Given the description of an element on the screen output the (x, y) to click on. 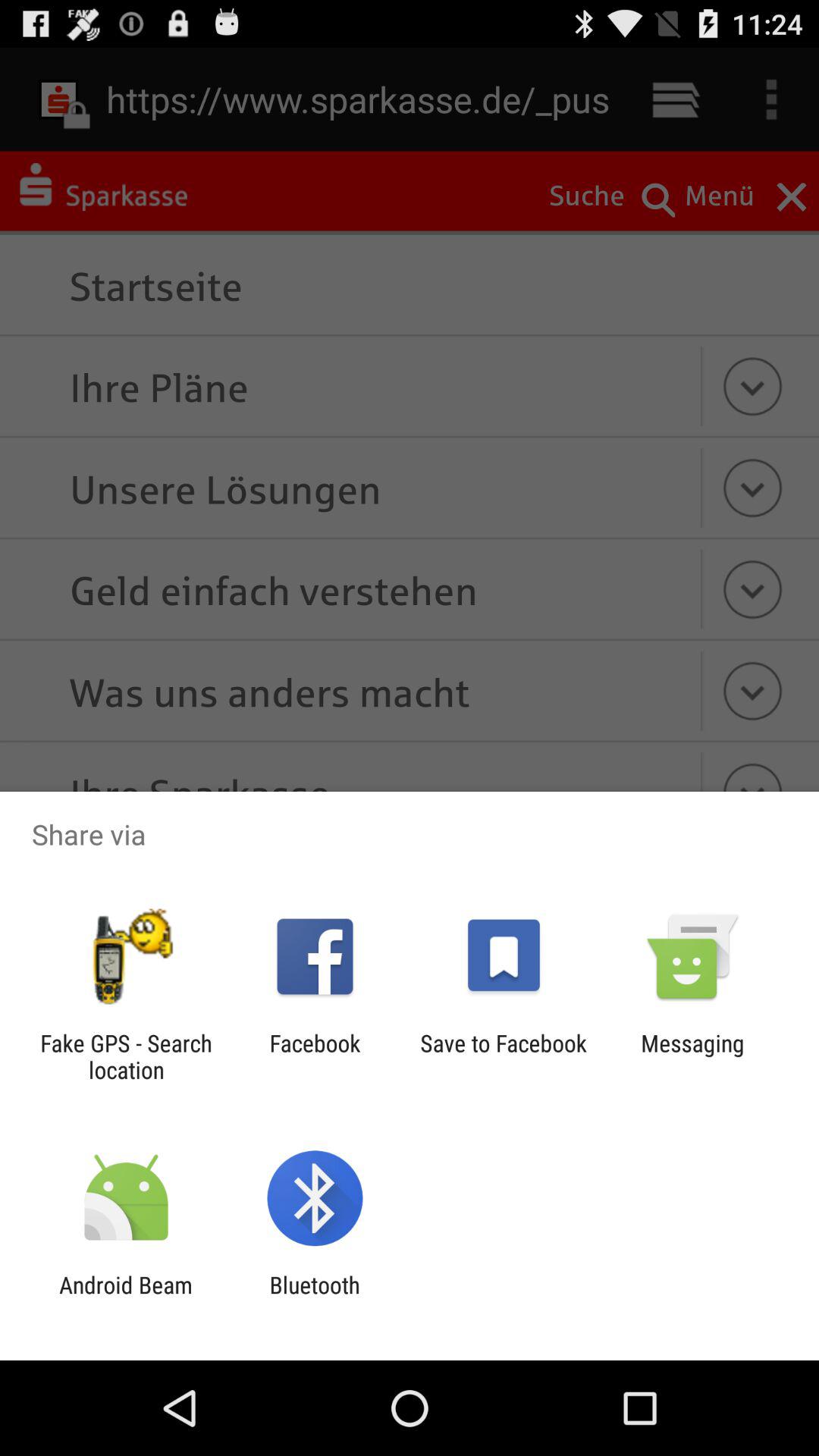
click the icon at the bottom right corner (692, 1056)
